Given the description of an element on the screen output the (x, y) to click on. 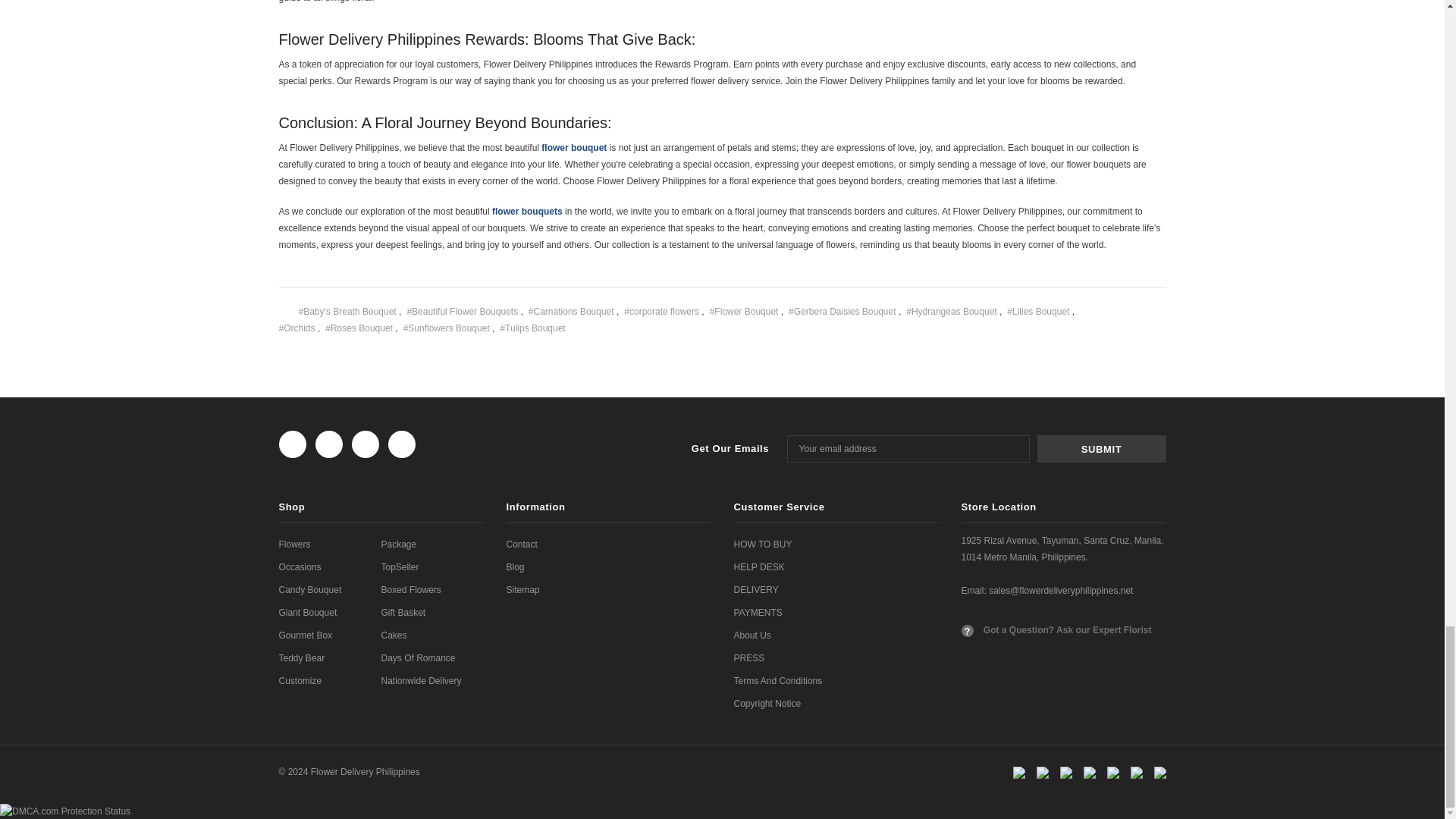
Twitter (1094, 325)
Print (1139, 308)
Facebook (1094, 309)
Pinterest (1118, 326)
DMCA.com Protection Status (65, 810)
Email (1118, 309)
Submit (1101, 448)
